Given the description of an element on the screen output the (x, y) to click on. 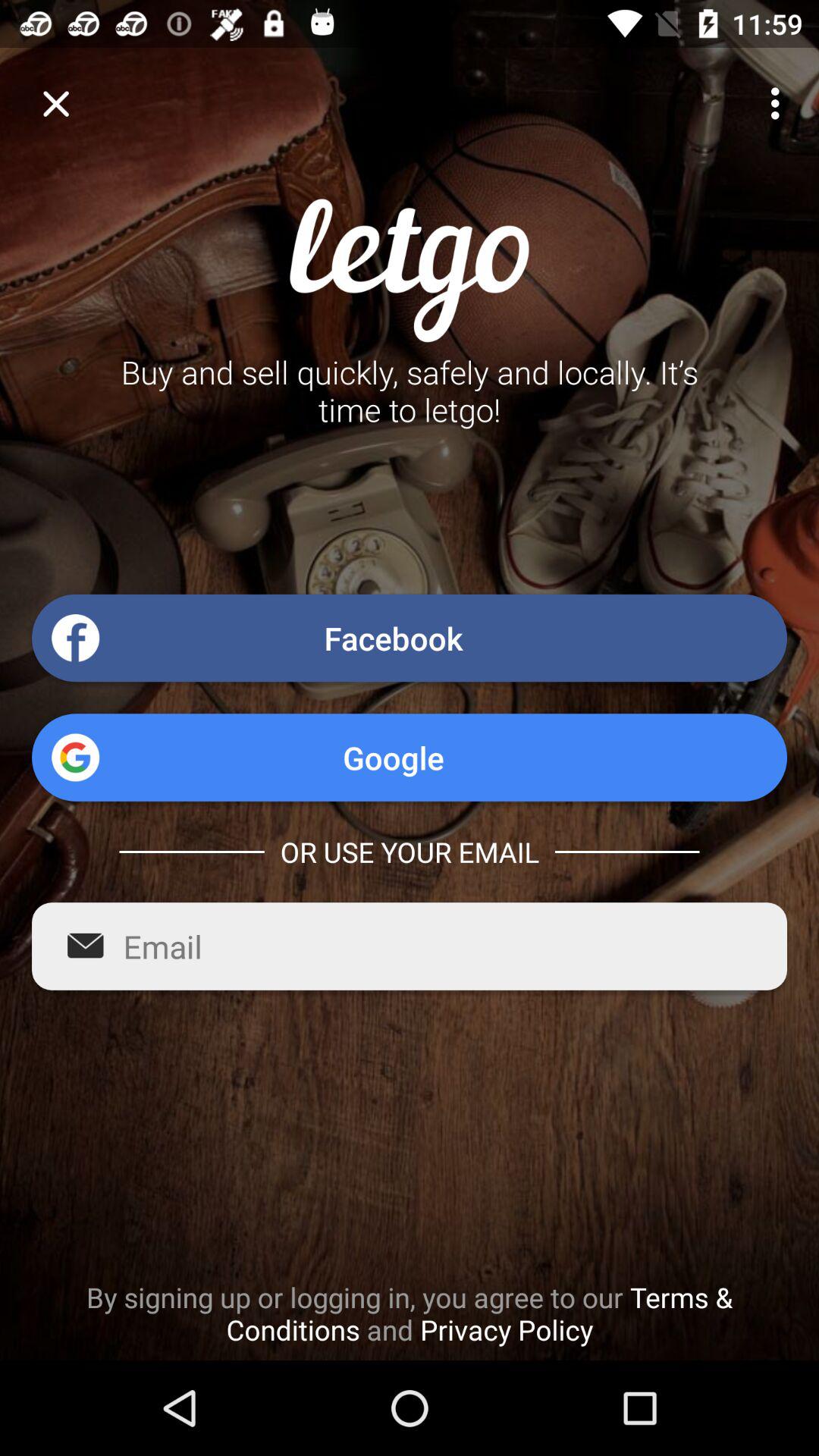
jump until facebook icon (409, 637)
